Given the description of an element on the screen output the (x, y) to click on. 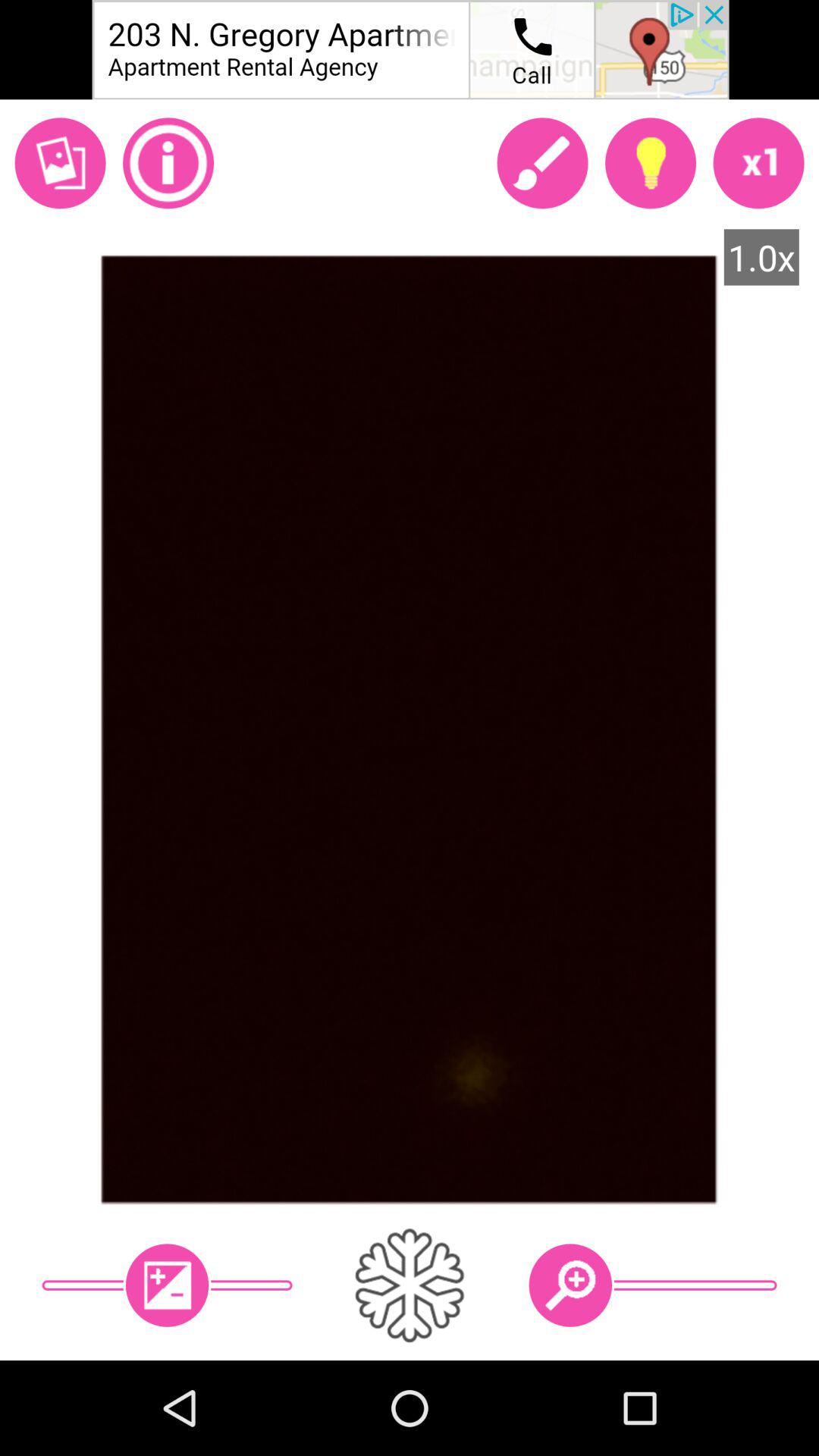
more information button (168, 163)
